Given the description of an element on the screen output the (x, y) to click on. 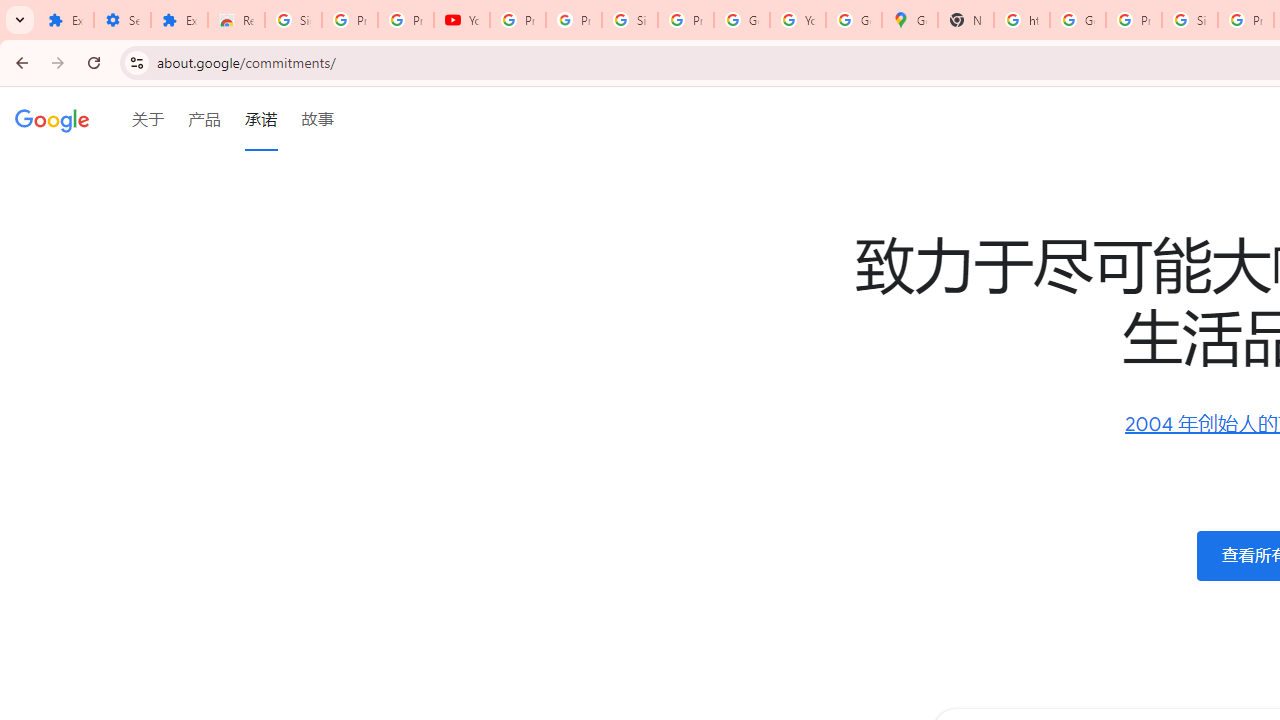
Sign in - Google Accounts (629, 20)
Google Account (742, 20)
Google Maps (909, 20)
YouTube (461, 20)
Reviews: Helix Fruit Jump Arcade Game (235, 20)
Settings (122, 20)
Sign in - Google Accounts (293, 20)
